Given the description of an element on the screen output the (x, y) to click on. 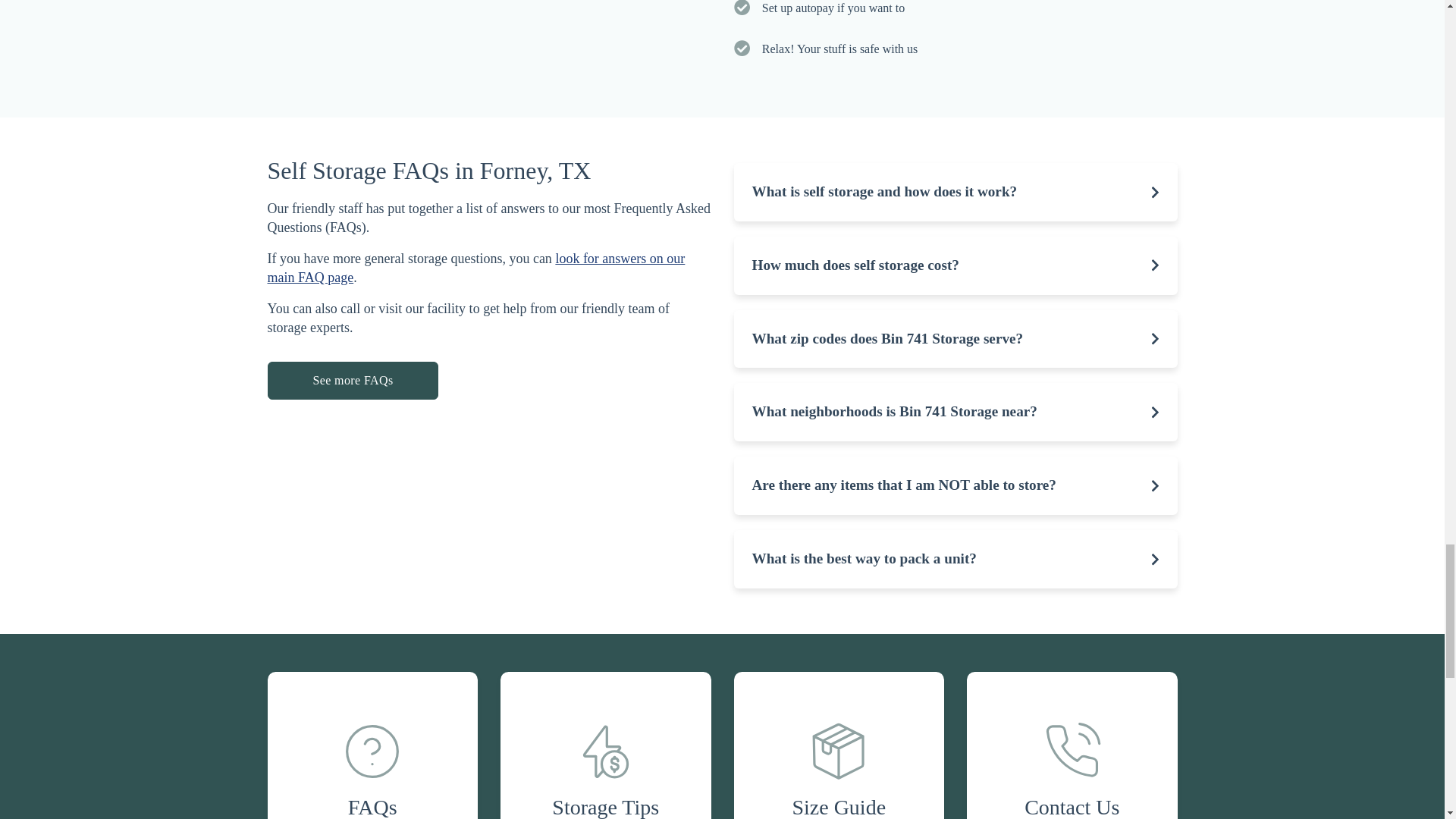
look for answers on our main FAQ page (475, 267)
Size Guide (838, 745)
FAQs (371, 745)
Contact Us (1071, 745)
Storage Tips (605, 745)
See more FAQs (352, 380)
